Given the description of an element on the screen output the (x, y) to click on. 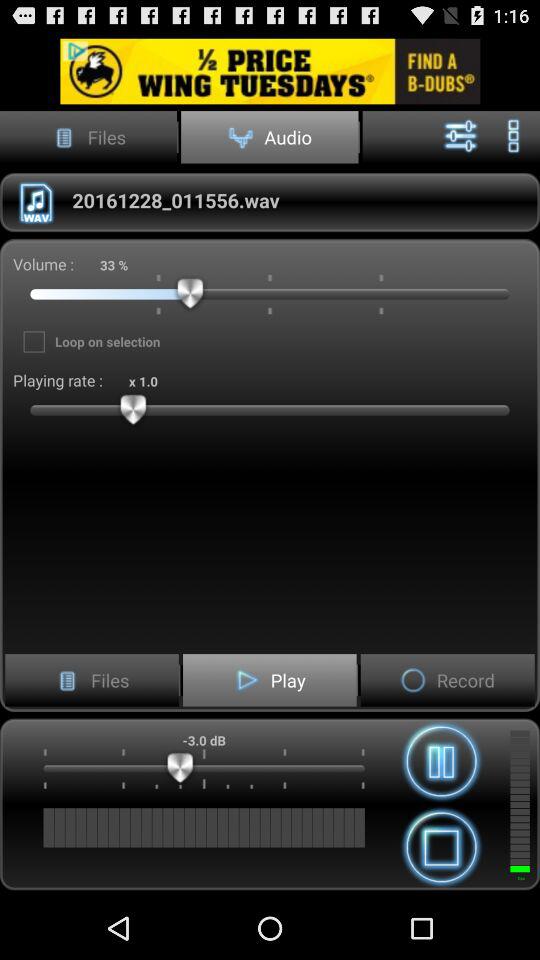
give advertisement information (270, 70)
